Given the description of an element on the screen output the (x, y) to click on. 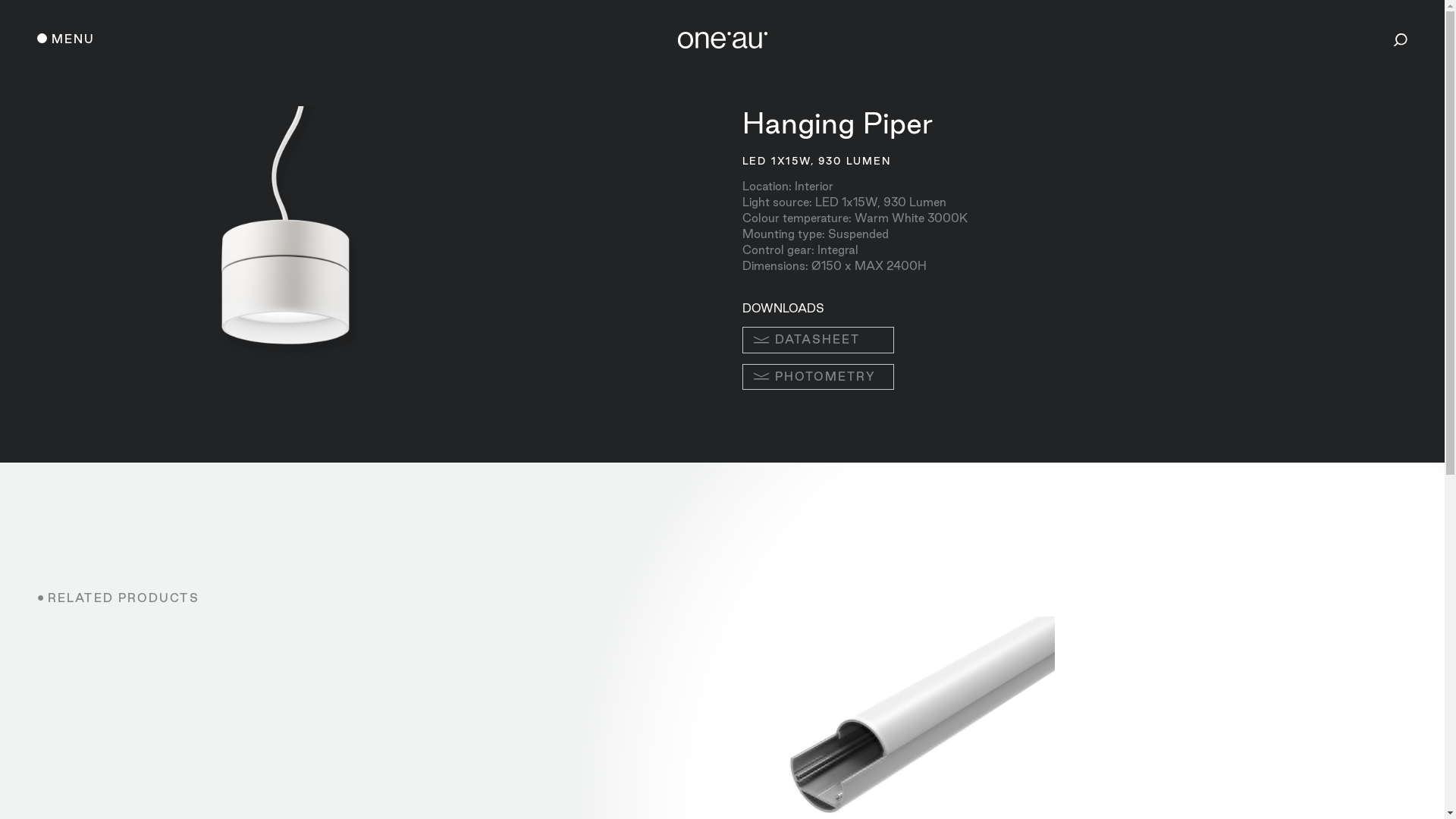
MENU Element type: text (66, 39)
DATASHEET Element type: text (818, 339)
One AU Element type: text (722, 43)
EGGER_LICHT_DLS_PF_146 Element type: hover (285, 257)
PHOTOMETRY Element type: text (818, 377)
